Given the description of an element on the screen output the (x, y) to click on. 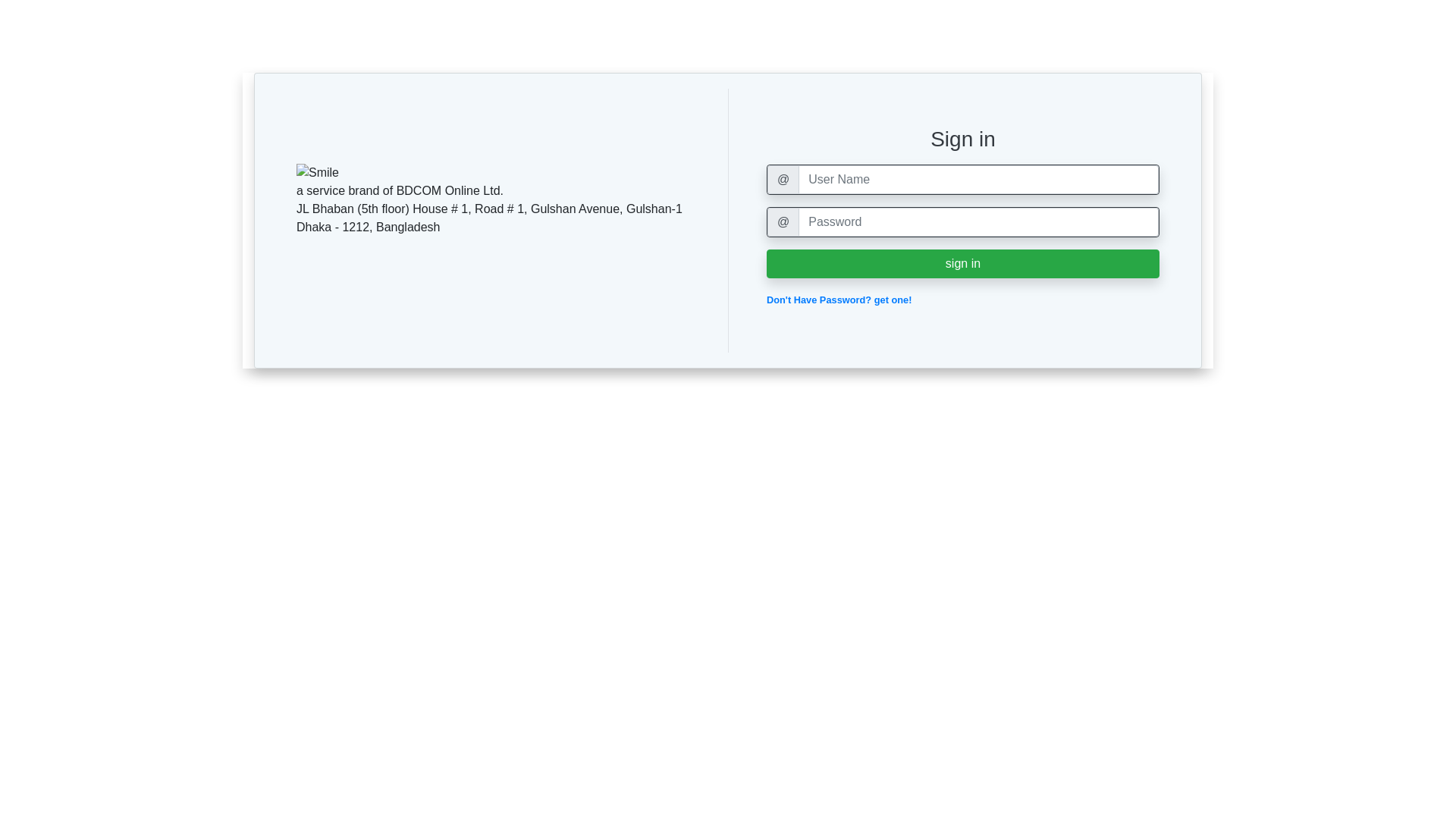
sign in Element type: text (962, 263)
Don't Have Password? get one! Element type: text (838, 299)
